Given the description of an element on the screen output the (x, y) to click on. 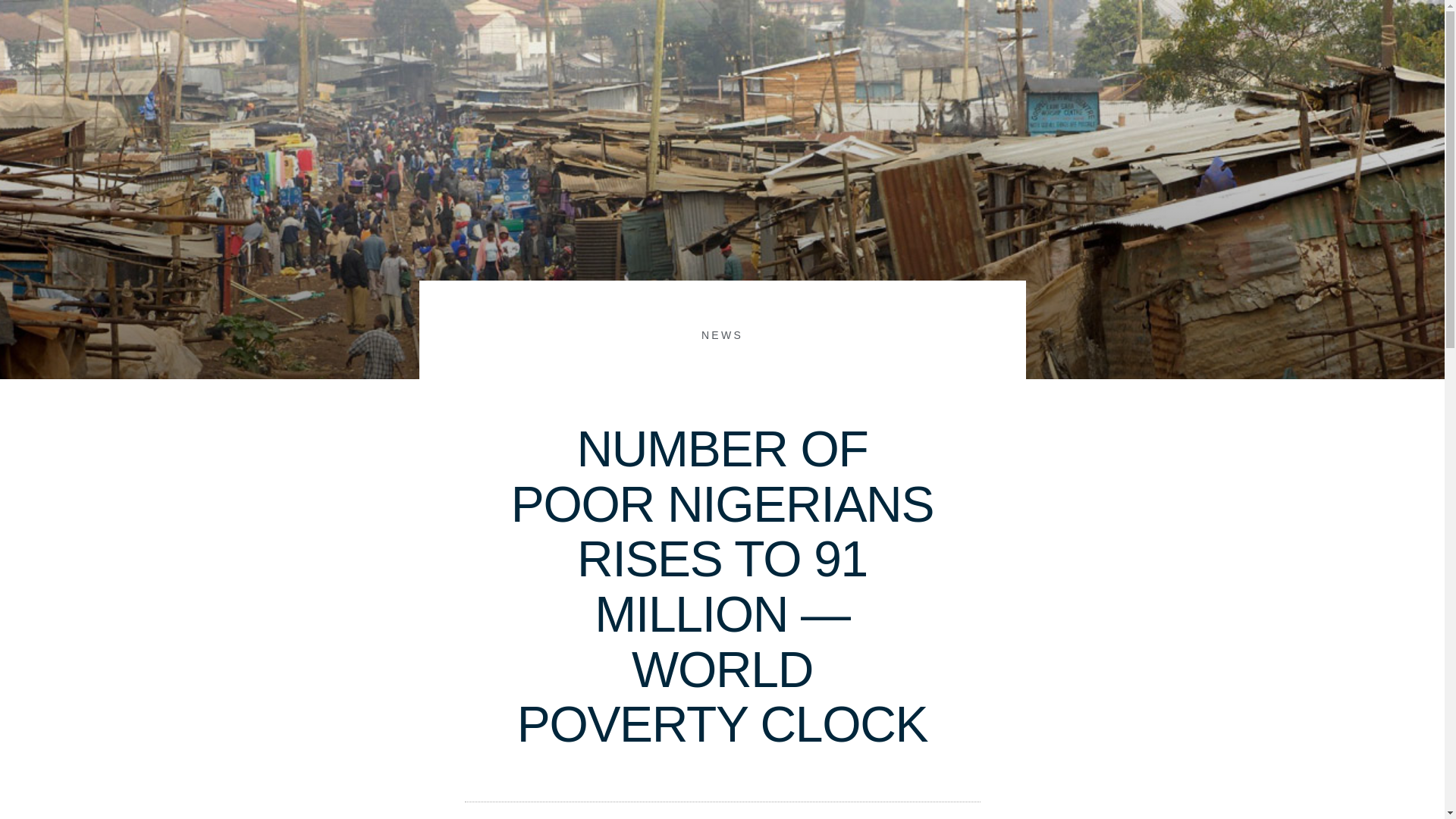
NEWS (721, 335)
July 3, 2019 (701, 816)
Admin (616, 816)
No Comments (807, 816)
